Given the description of an element on the screen output the (x, y) to click on. 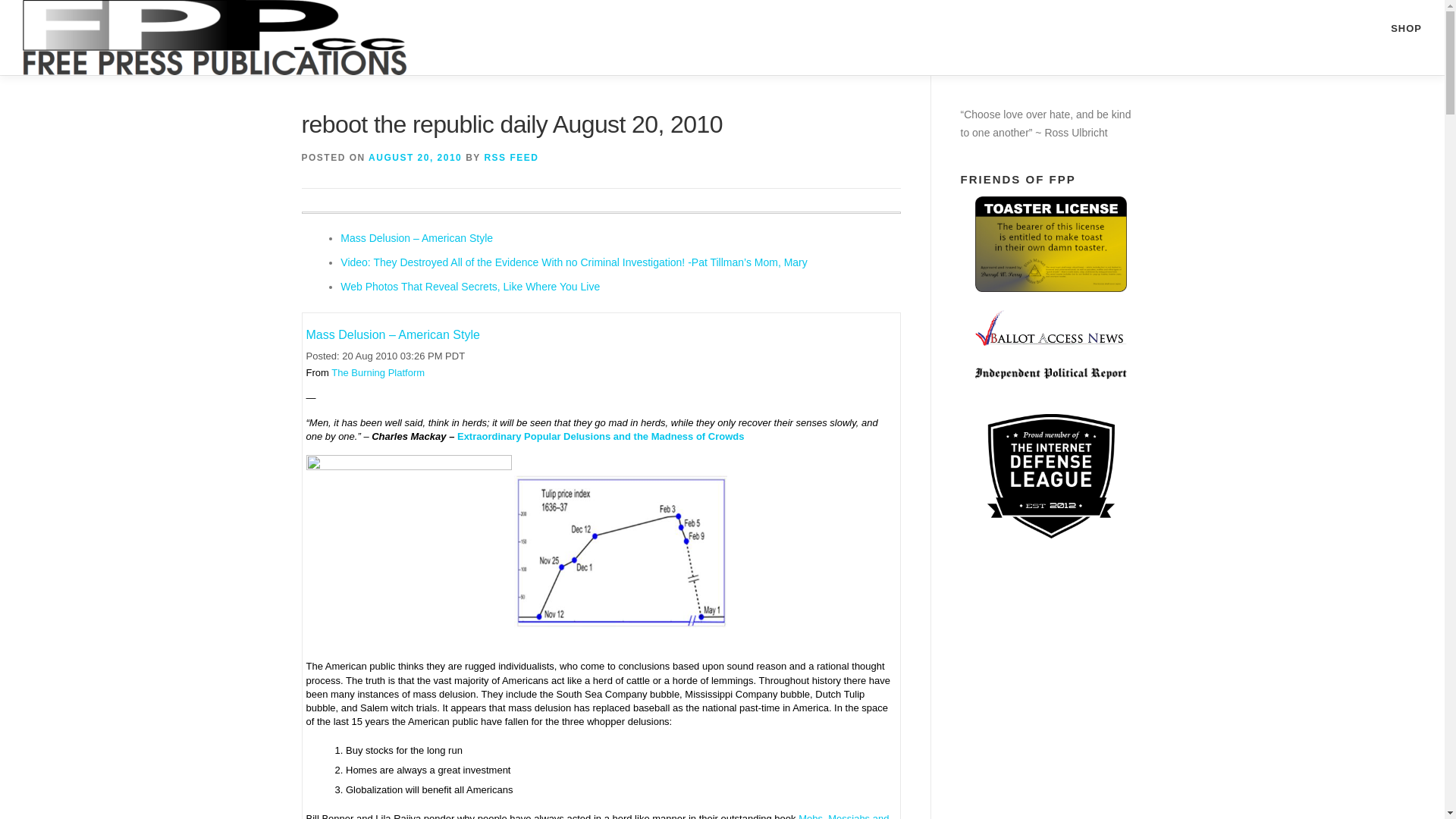
AUGUST 20, 2010 (414, 157)
The Burning Platform (378, 372)
Extraordinary Popular Delusions and the Madness of Crowds (600, 436)
Web Photos That Reveal Secrets, Like Where You Live (469, 286)
RSS FEED (510, 157)
